Given the description of an element on the screen output the (x, y) to click on. 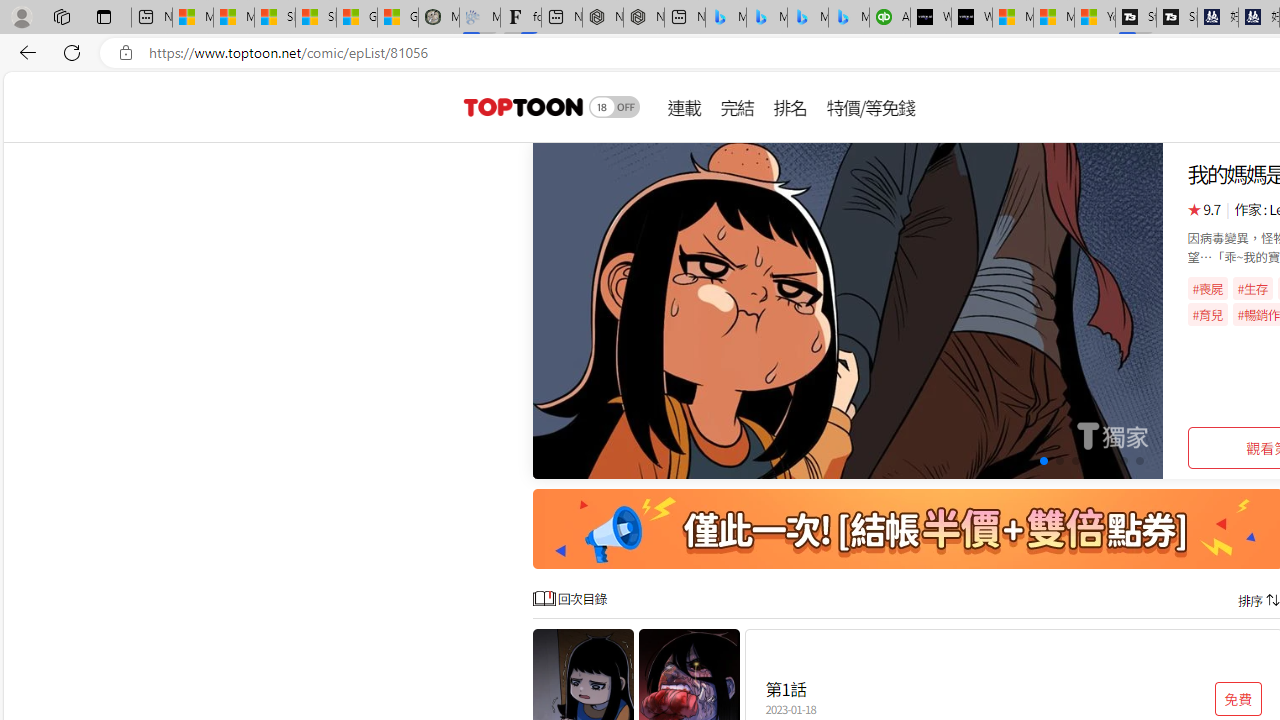
Class: swiper-slide swiper-slide-active (847, 310)
Go to slide 7 (1090, 461)
Go to slide 10 (1139, 461)
Microsoft Bing Travel - Shangri-La Hotel Bangkok (849, 17)
Go to slide 3 (1026, 461)
